Given the description of an element on the screen output the (x, y) to click on. 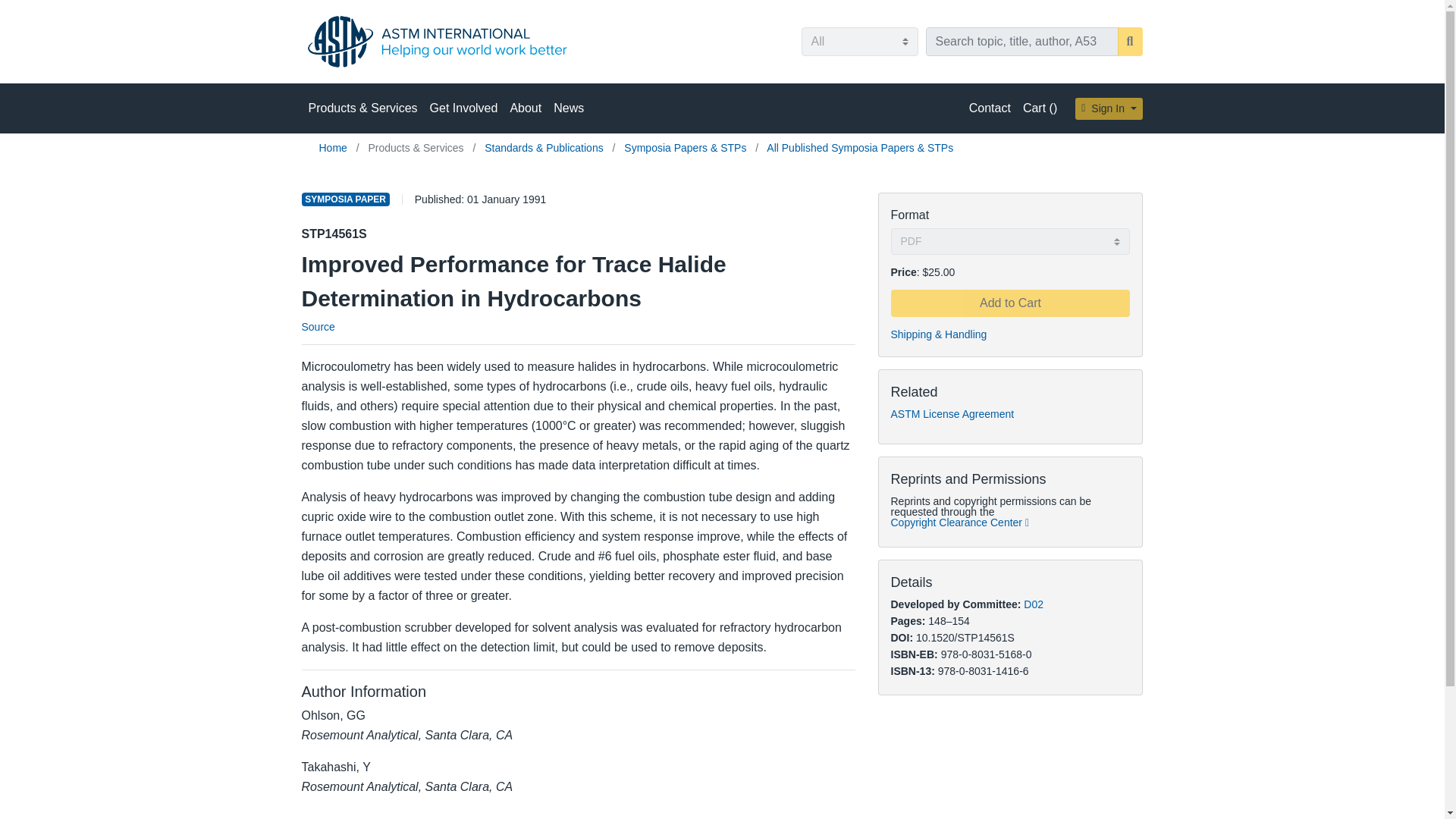
All (858, 41)
Add to Cart (1009, 302)
Go to Home Page (333, 147)
